Given the description of an element on the screen output the (x, y) to click on. 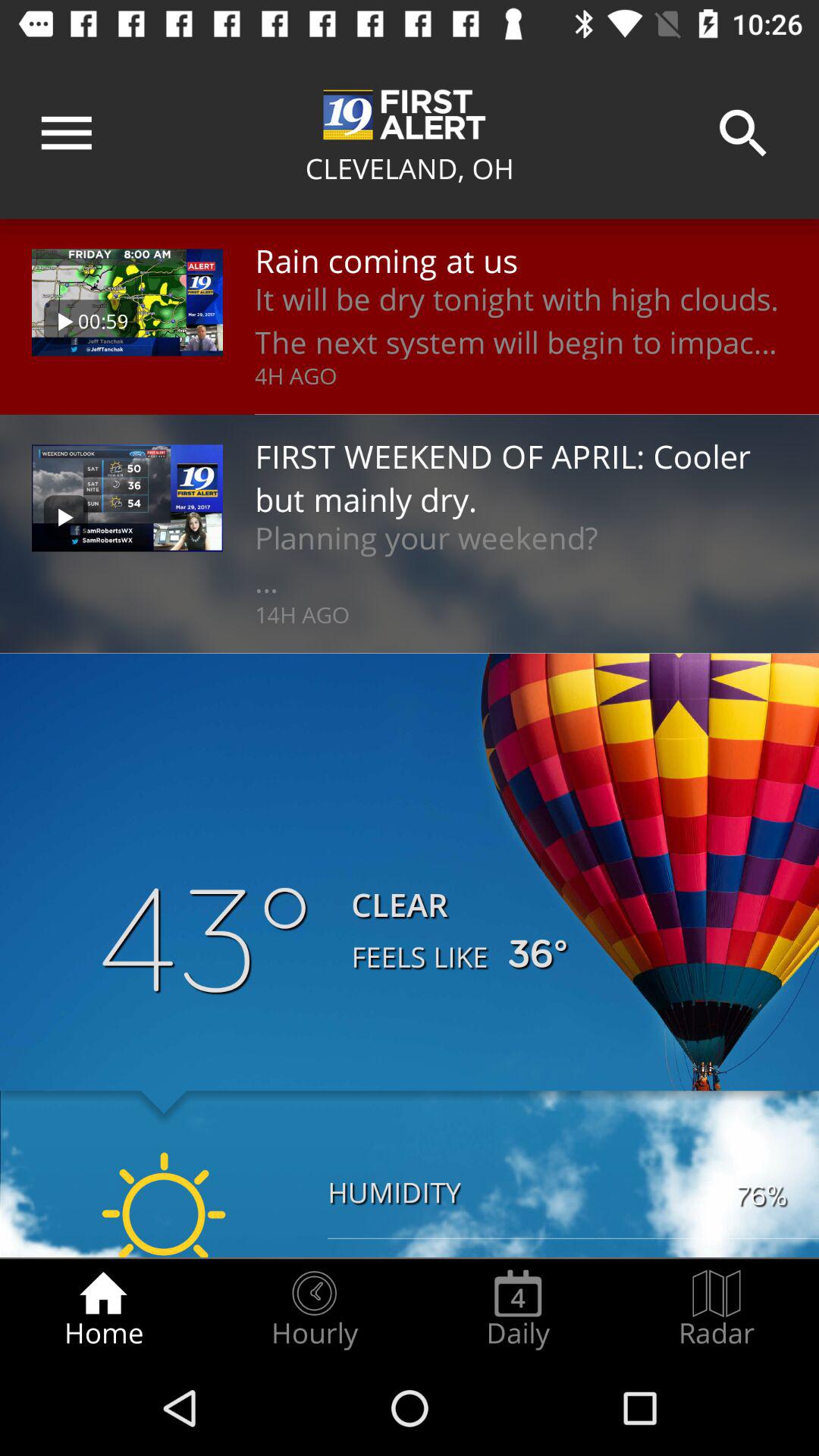
choose icon to the left of the radar icon (518, 1309)
